Given the description of an element on the screen output the (x, y) to click on. 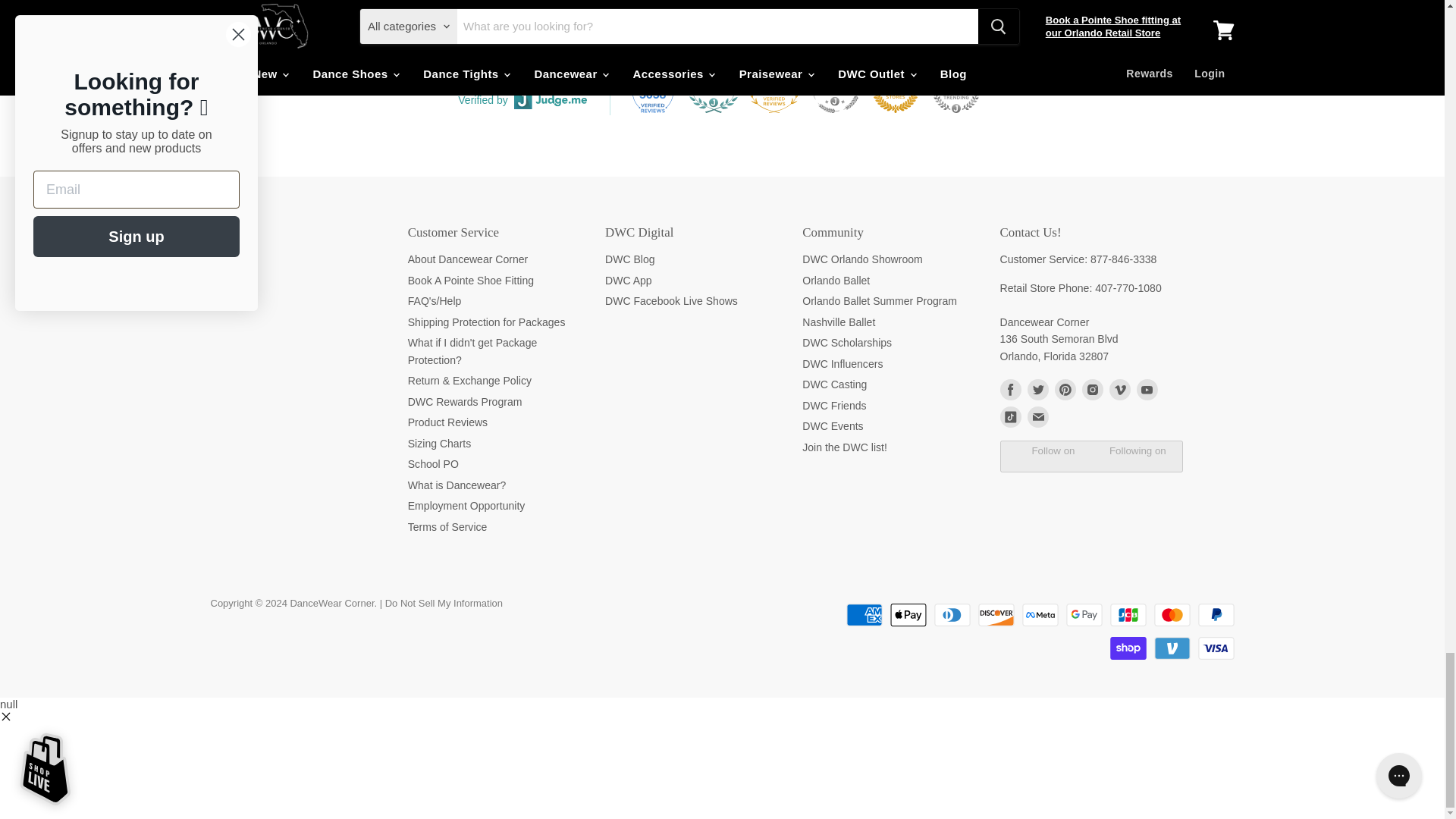
Twitter (1037, 389)
Instagram (1091, 389)
Facebook (1009, 389)
Pinterest (1064, 389)
